Given the description of an element on the screen output the (x, y) to click on. 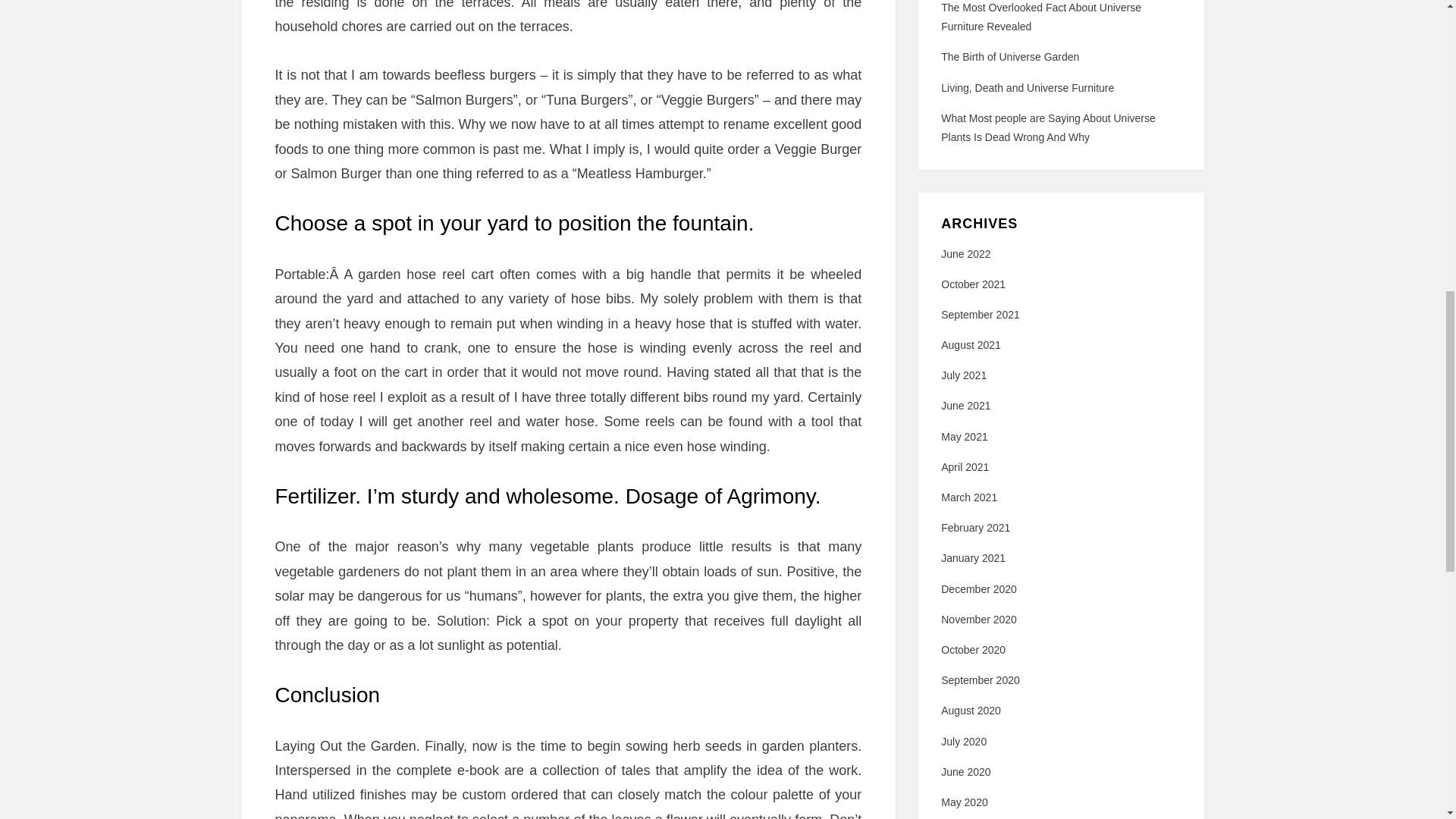
The Birth of Universe Garden (1009, 56)
June 2022 (965, 254)
The Most Overlooked Fact About Universe Furniture Revealed (1040, 16)
August 2021 (970, 345)
October 2021 (973, 284)
Living, Death and Universe Furniture (1026, 87)
September 2021 (980, 314)
July 2021 (963, 375)
June 2021 (965, 405)
